Given the description of an element on the screen output the (x, y) to click on. 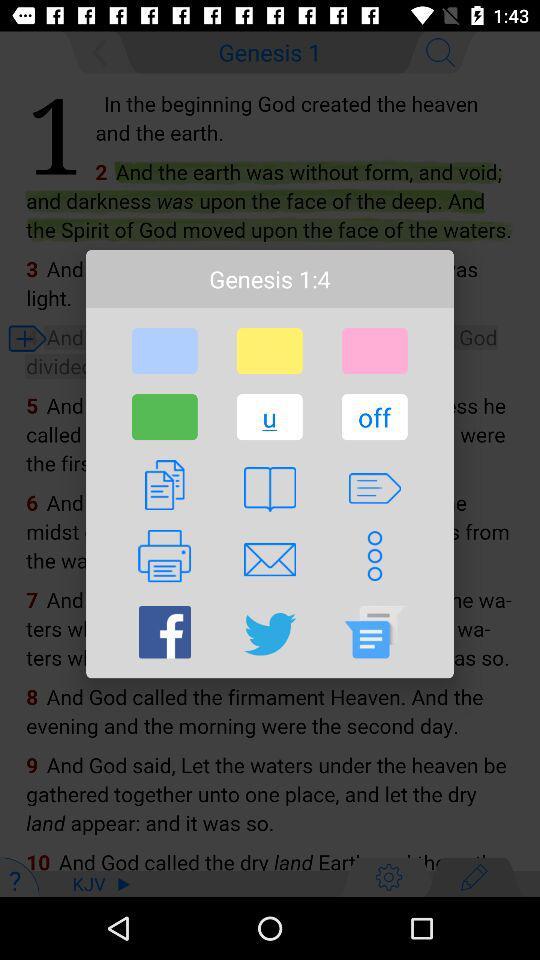
open the item above off (374, 351)
